Given the description of an element on the screen output the (x, y) to click on. 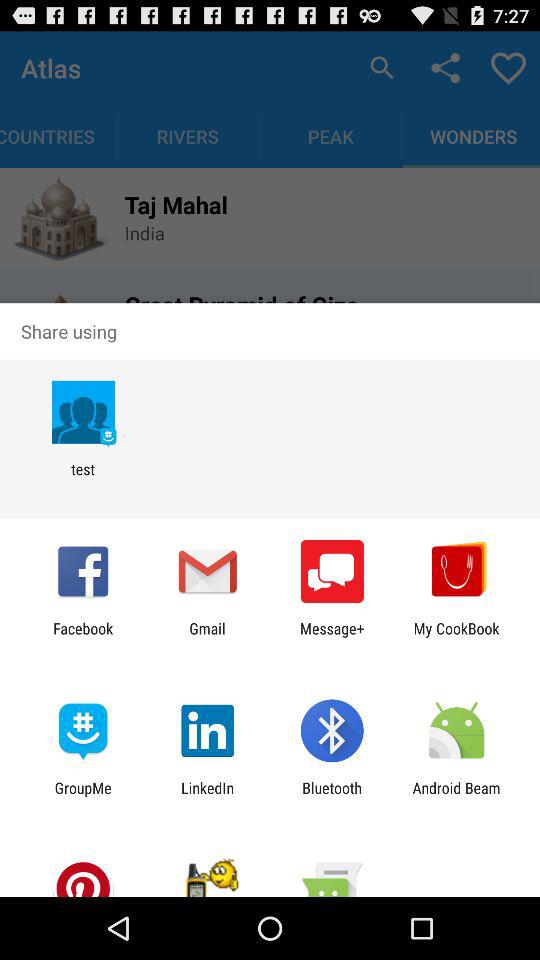
turn off linkedin icon (207, 796)
